Given the description of an element on the screen output the (x, y) to click on. 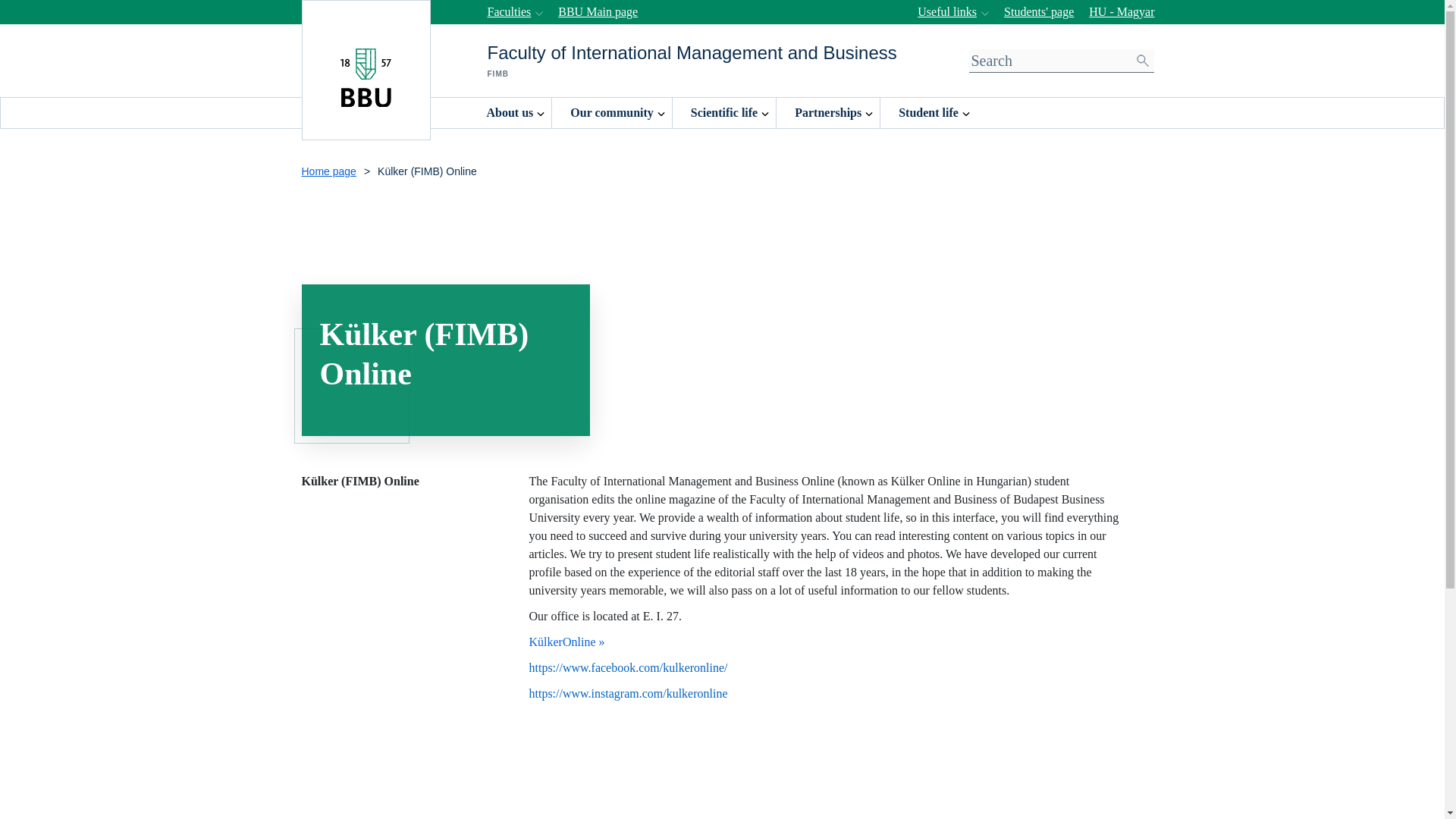
HU - Magyar (1121, 11)
Skip to Content (47, 2)
Useful links (949, 11)
Students' page (1039, 11)
BBU Main page (597, 11)
Faculties (510, 11)
